Given the description of an element on the screen output the (x, y) to click on. 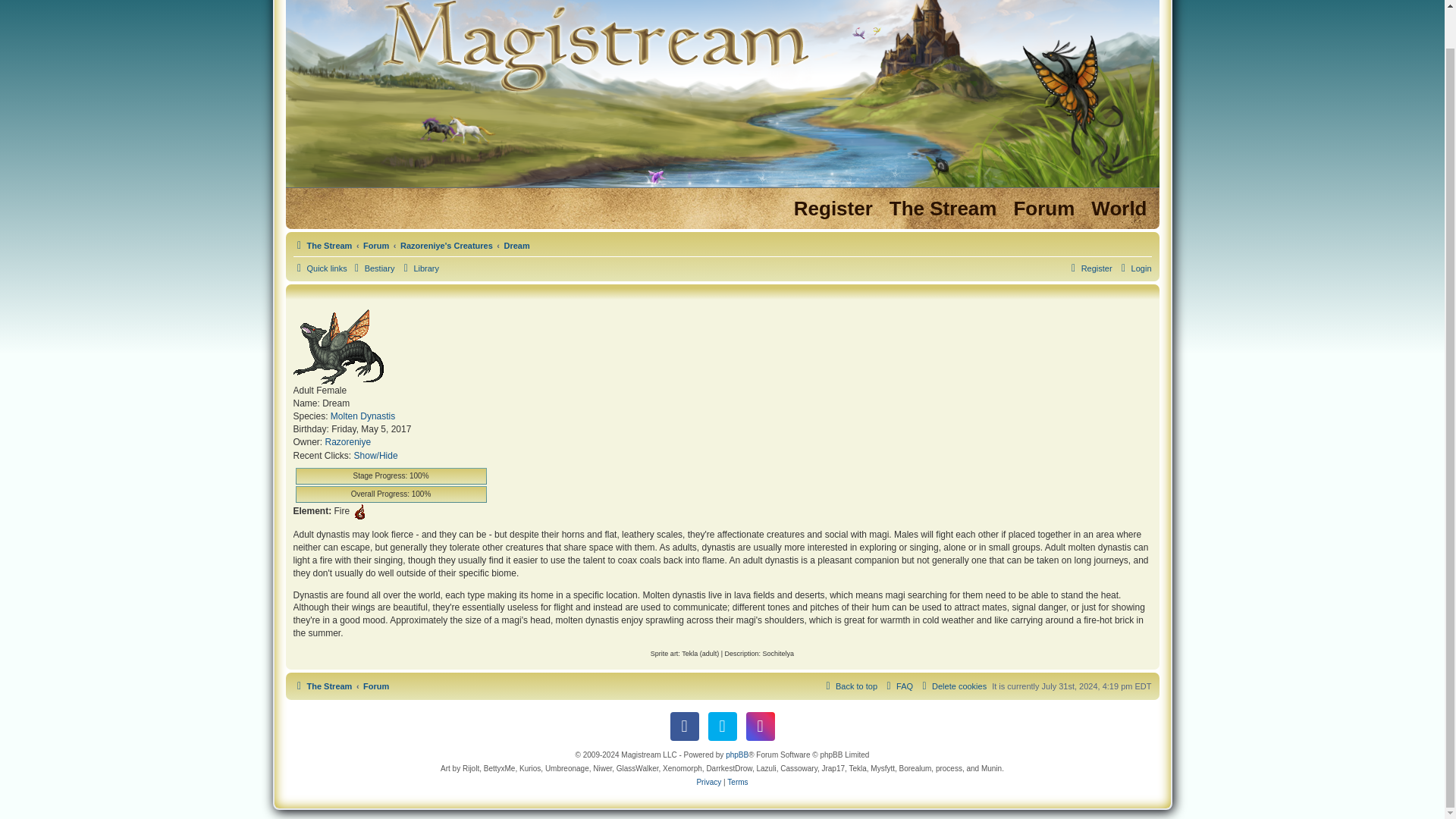
Razoreniye's Creatures (446, 245)
Login (1134, 268)
An encyclopedia of Magistream creatures (372, 268)
Register (833, 208)
Razoreniye's Creatures (446, 245)
Index of the discussion boards (1043, 208)
Back to top (849, 686)
Forum (375, 245)
Create an account on the site (833, 208)
The Stream (322, 245)
Molten Dynastis (362, 416)
Dream (516, 245)
Library (418, 268)
The element Fire (360, 511)
The Stream (943, 208)
